Given the description of an element on the screen output the (x, y) to click on. 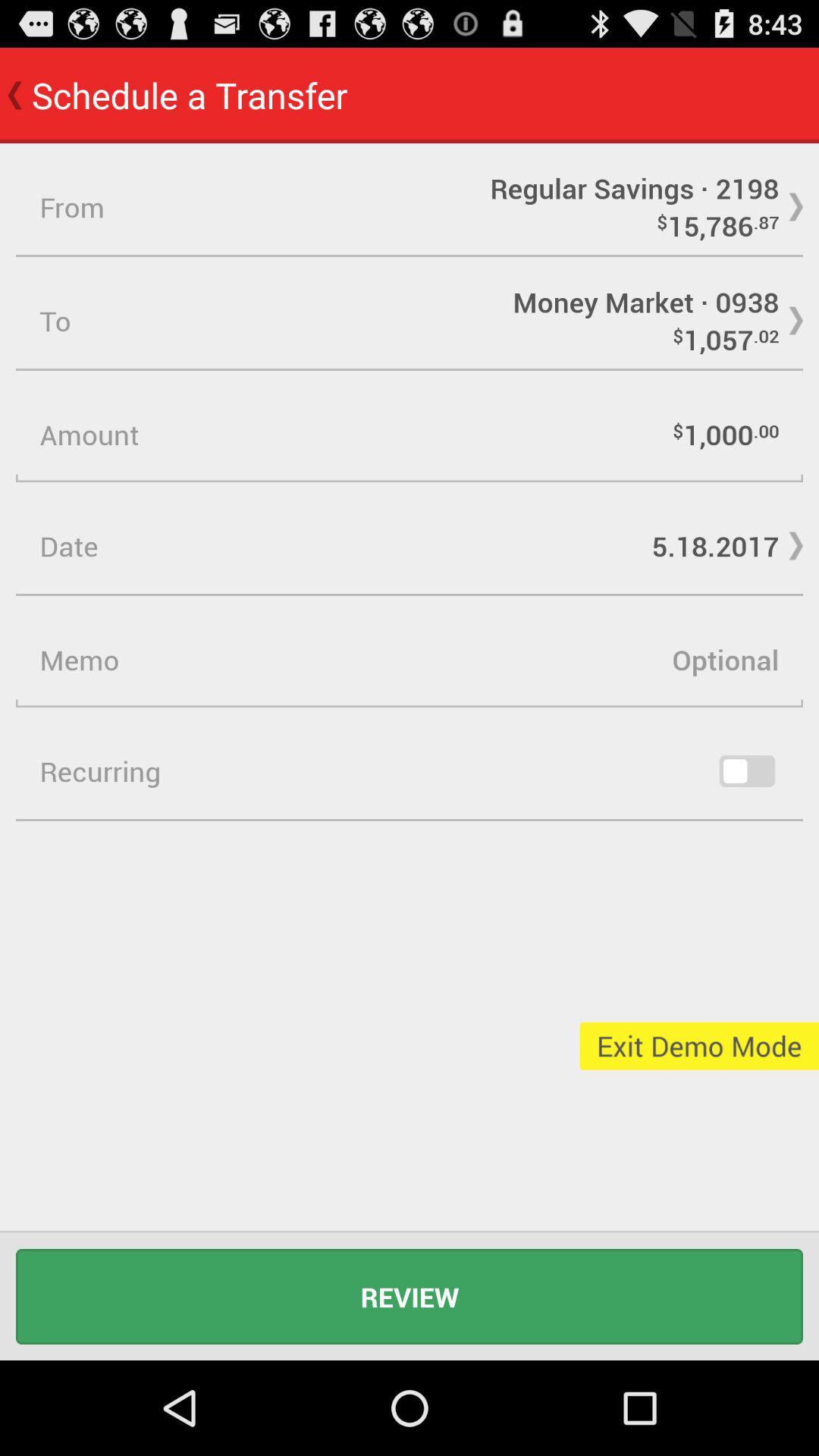
toggle recurring option (747, 771)
